Given the description of an element on the screen output the (x, y) to click on. 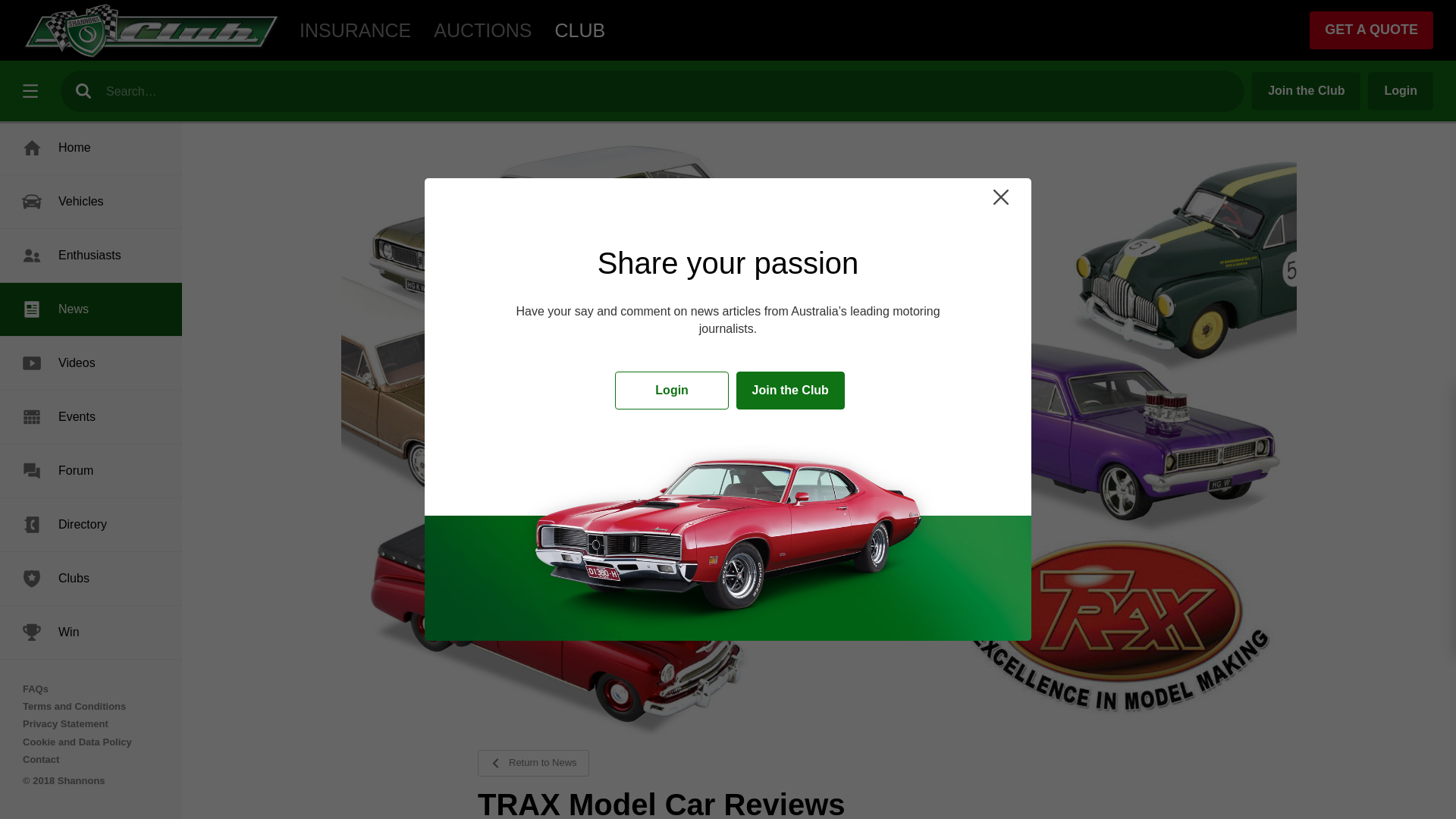
Login (1400, 90)
Videos (91, 362)
GET A QUOTE (1370, 30)
Shannons Insurance (354, 29)
Shannons Club Home (152, 30)
Clubs (91, 578)
Home (91, 147)
Join the Club (790, 390)
Enthusiasts (91, 255)
News (91, 308)
Login to the Shannons Club (671, 390)
CLUB (579, 29)
Directory (91, 524)
Vehicles (91, 201)
Shannons Auctions (482, 29)
